Given the description of an element on the screen output the (x, y) to click on. 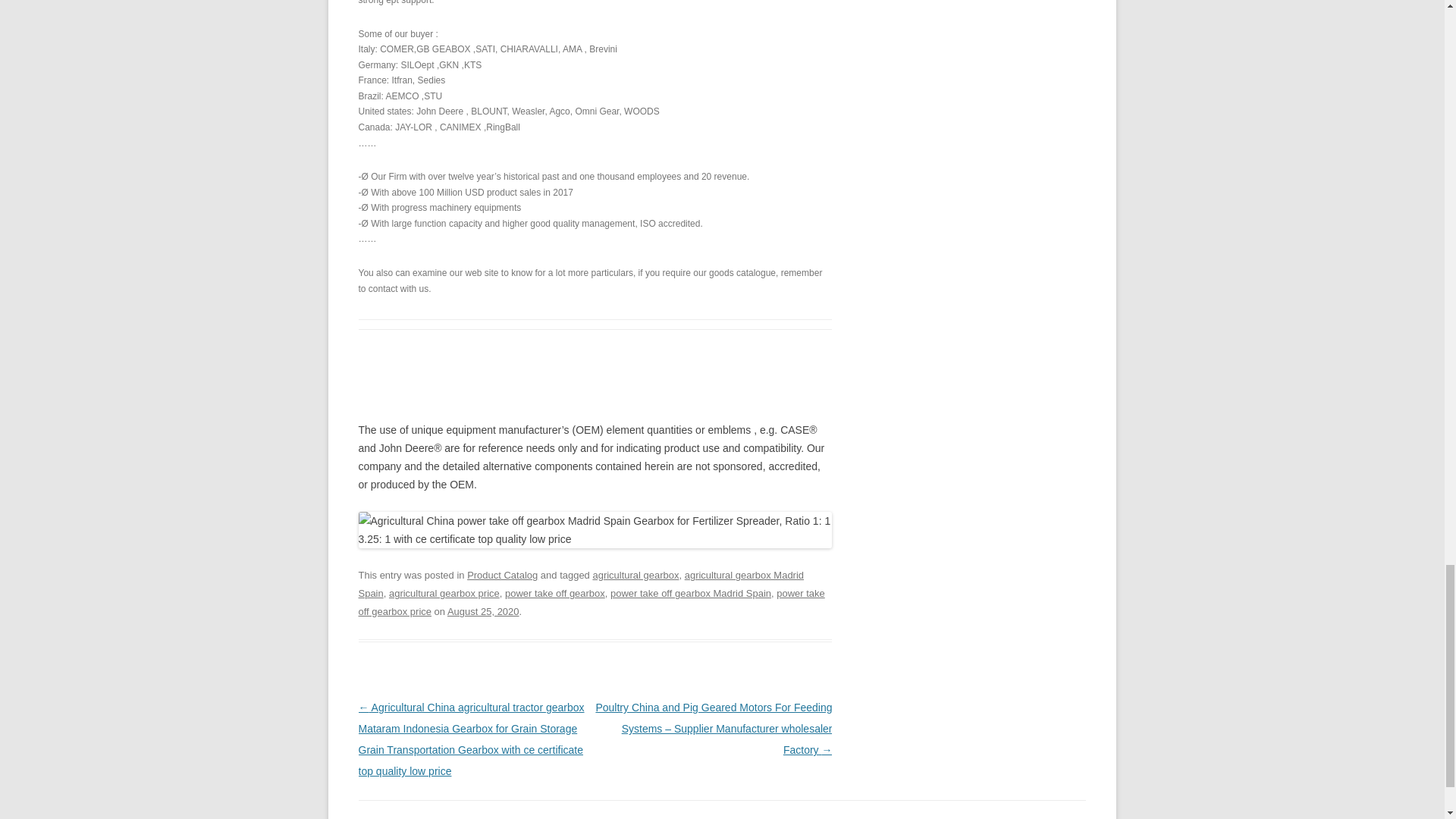
agricultural gearbox (635, 574)
power take off gearbox (555, 593)
power take off gearbox Madrid Spain (690, 593)
agricultural gearbox price (443, 593)
power take off gearbox price (591, 602)
agricultural gearbox Madrid Spain (580, 583)
August 25, 2020 (482, 611)
Product Catalog (502, 574)
2:01 am (482, 611)
